Given the description of an element on the screen output the (x, y) to click on. 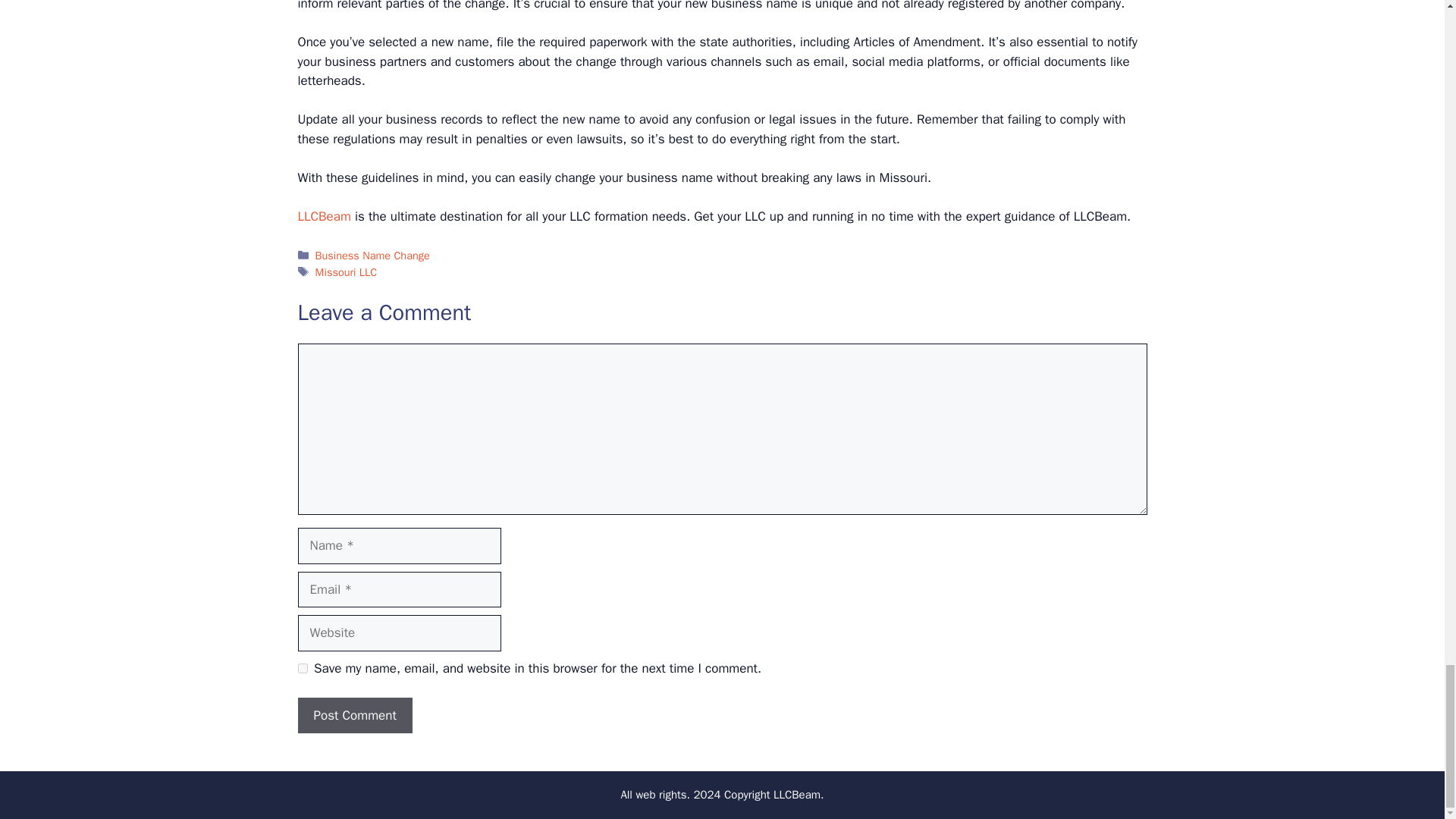
LLCBeam (323, 216)
yes (302, 668)
Business Name Change (372, 255)
Post Comment (354, 715)
Missouri LLC (346, 272)
LLCBeam (797, 794)
Post Comment (354, 715)
LLCBeam (323, 216)
